Given the description of an element on the screen output the (x, y) to click on. 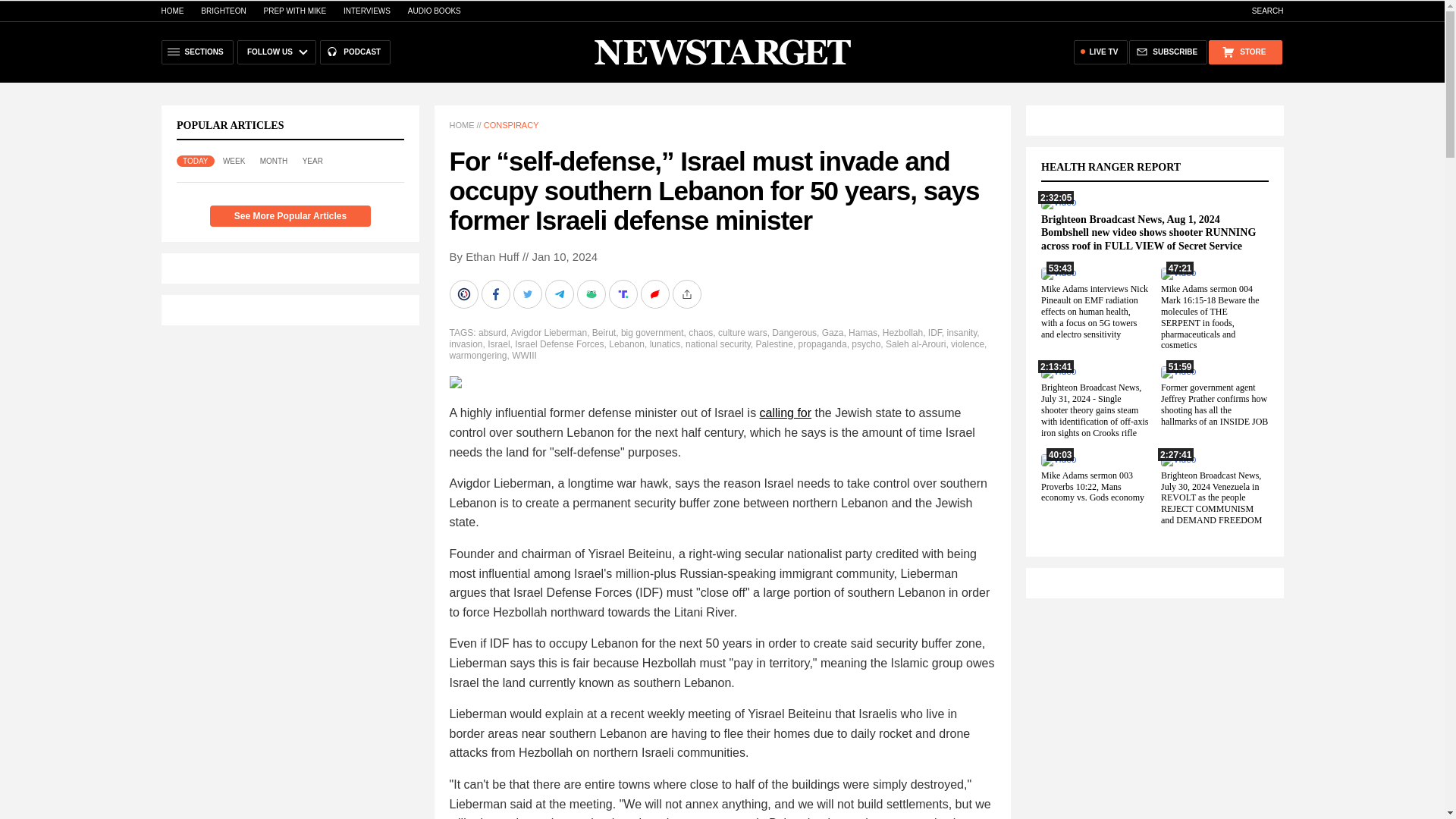
More Share Options (687, 294)
SEARCH (1260, 10)
47:21 (1177, 272)
SUBSCRIBE (1168, 52)
53:43 (1058, 272)
HOME (171, 10)
PODCAST (355, 52)
2:32:05 (1058, 202)
